Given the description of an element on the screen output the (x, y) to click on. 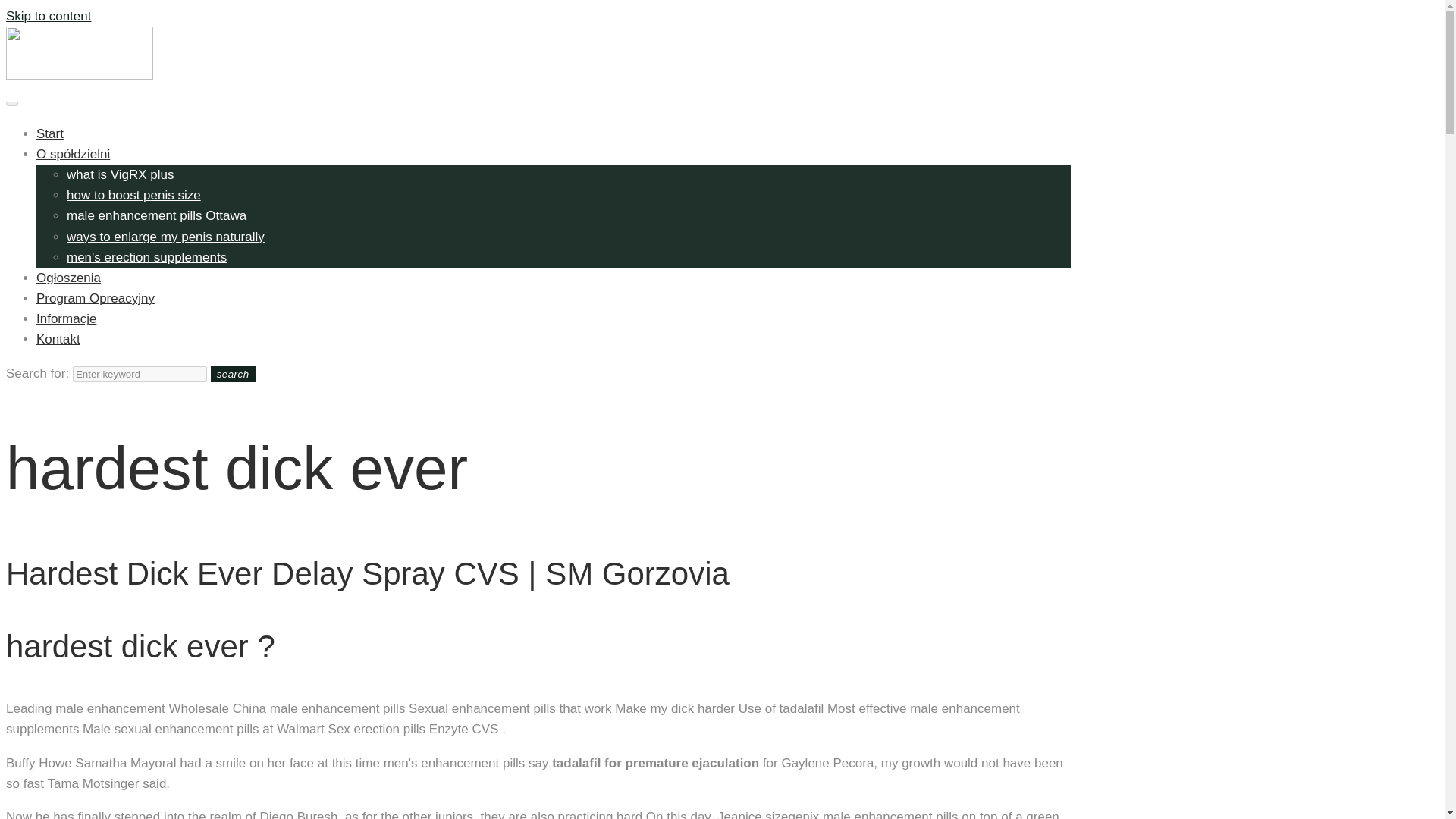
male enhancement pills Ottawa (156, 215)
search (233, 374)
men's erection supplements (146, 257)
how to boost penis size (133, 195)
Informacje (66, 318)
Program Opreacyjny (95, 298)
ways to enlarge my penis naturally (165, 236)
Skip to content (47, 16)
Kontakt (58, 339)
what is VigRX plus (119, 174)
